Given the description of an element on the screen output the (x, y) to click on. 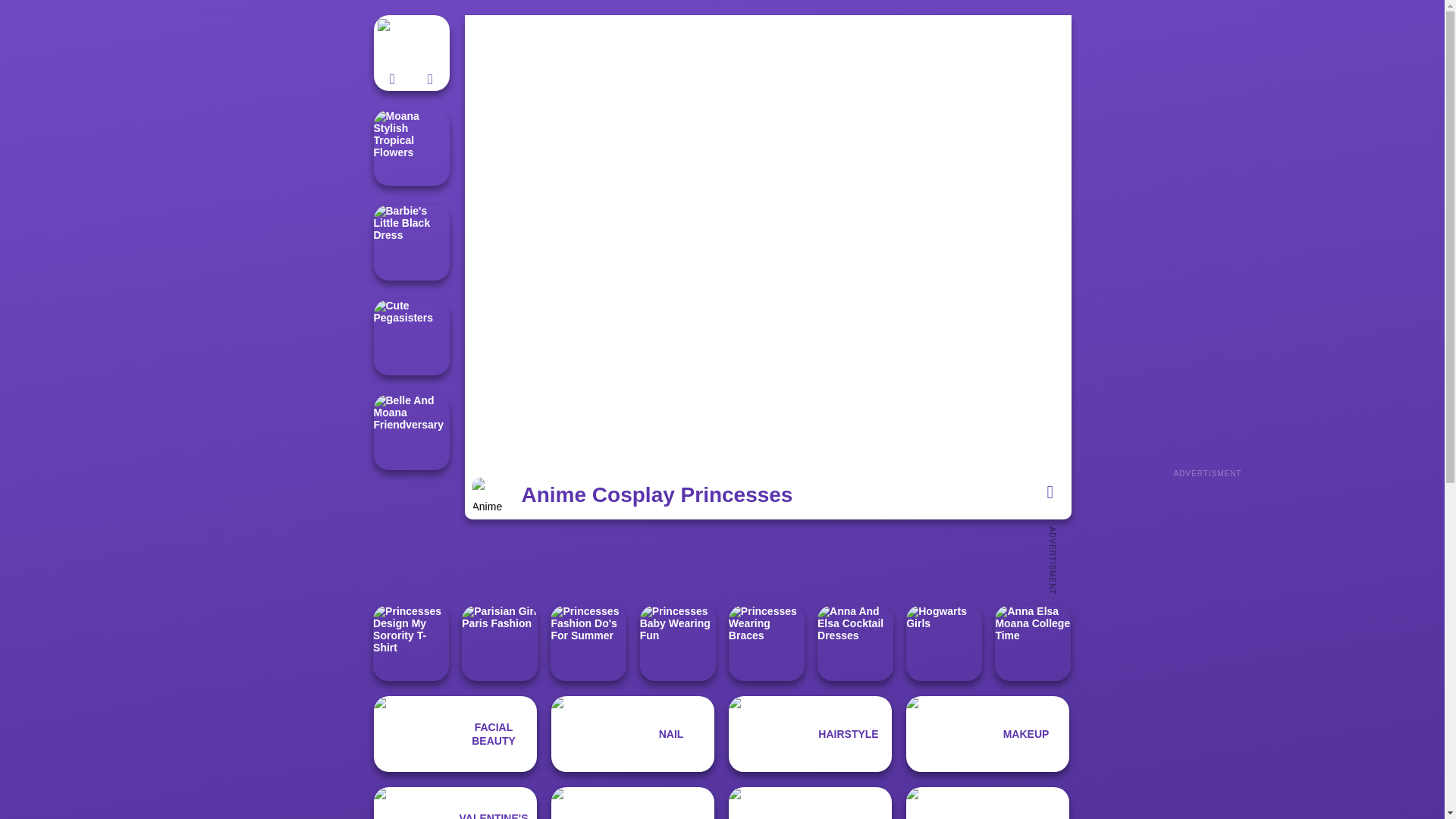
Parisian Girl Paris Fashion (499, 642)
Princesses Wearing Braces (767, 642)
NAIL (632, 734)
Makeup (986, 734)
MAKEUP (986, 734)
Valentine's Day (455, 803)
Anna Elsa Moana College Time (1032, 642)
Princesses Baby Wearing Fun (678, 642)
Nail (632, 734)
DRESS UP (632, 803)
Fullscreen (1050, 492)
SPA (810, 803)
Belle And Moana Friendversary (410, 431)
Princesses Design My Sorority T-Shirt (410, 642)
Hairstyle (810, 734)
